Given the description of an element on the screen output the (x, y) to click on. 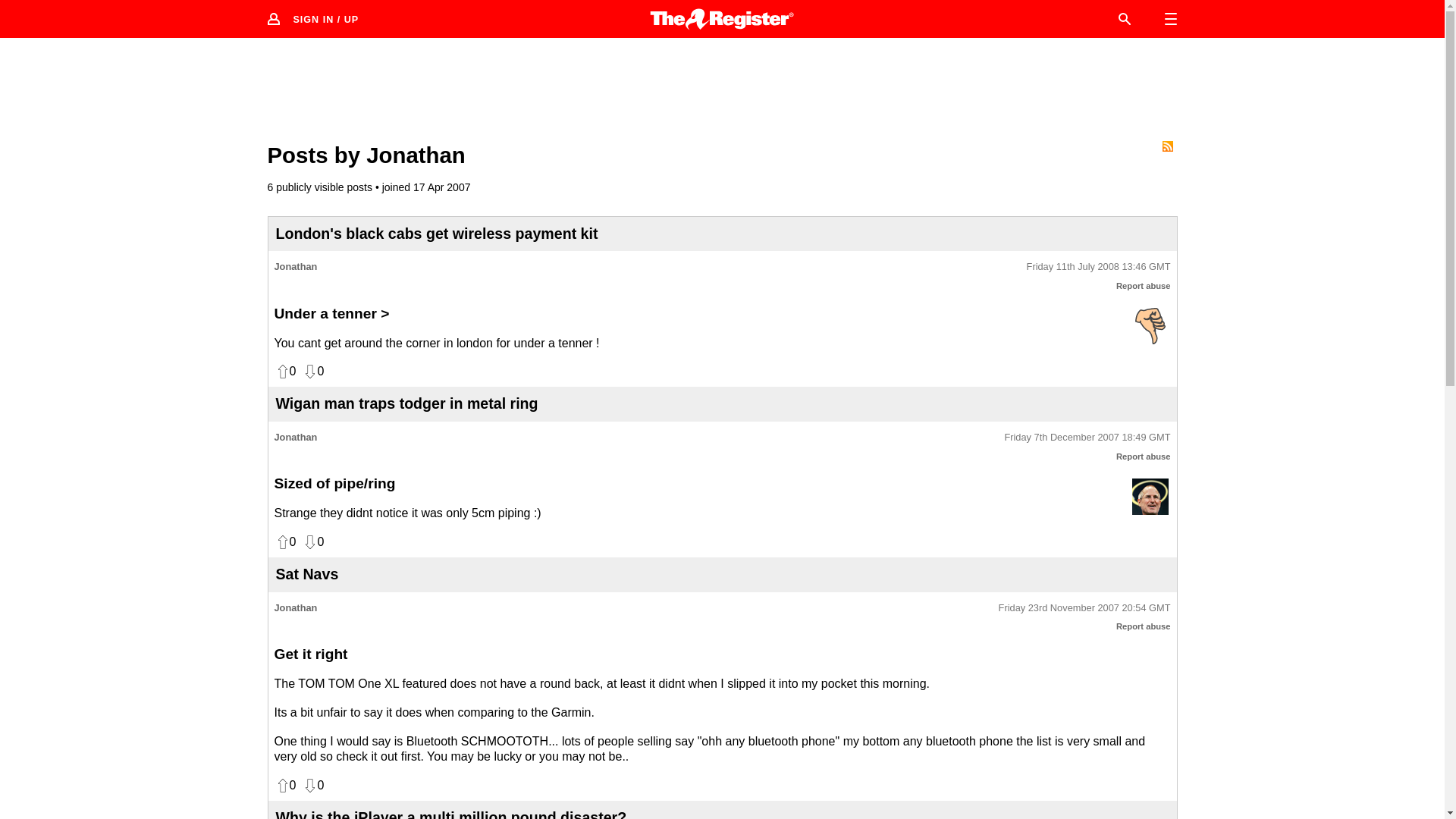
Permalink to this post (1087, 437)
Report abuse (1143, 285)
Inappropriate post? Report it to our moderators (1143, 625)
Permalink to this post (1098, 267)
Hate it (1149, 325)
Permalink to this post (1084, 608)
Dislike this post? Vote it down! (312, 541)
Like this post? Vote for it! (286, 785)
Like this post? Vote for it! (286, 371)
Inappropriate post? Report it to our moderators (1143, 456)
Dislike this post? Vote it down! (312, 785)
Feed of new posts by this user (1166, 145)
iFan (1149, 495)
Like this post? Vote for it! (286, 541)
Report abuse (1143, 625)
